Given the description of an element on the screen output the (x, y) to click on. 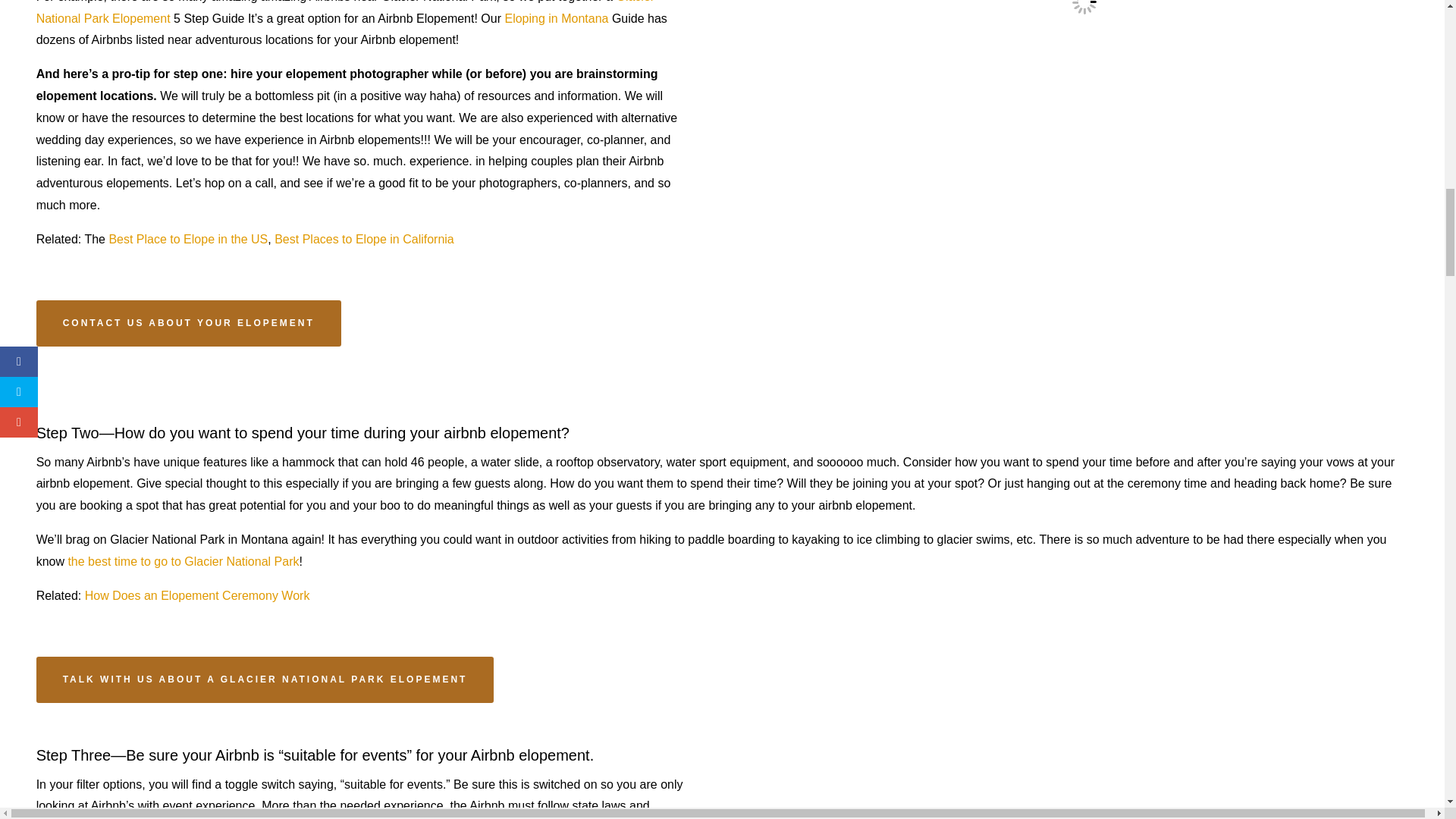
TALK WITH US ABOUT A GLACIER NATIONAL PARK ELOPEMENT (265, 678)
Glacier National Park Elopement (347, 12)
Best Places to Elope in California (364, 238)
CONTACT US ABOUT YOUR ELOPEMENT (188, 322)
the best time to go to Glacier National Park (182, 561)
How Does an Elopement Ceremony Work (197, 594)
Eloping in Montana (555, 18)
Best Place to Elope in the US (187, 238)
airbnb-elopement-3 (1083, 781)
